Given the description of an element on the screen output the (x, y) to click on. 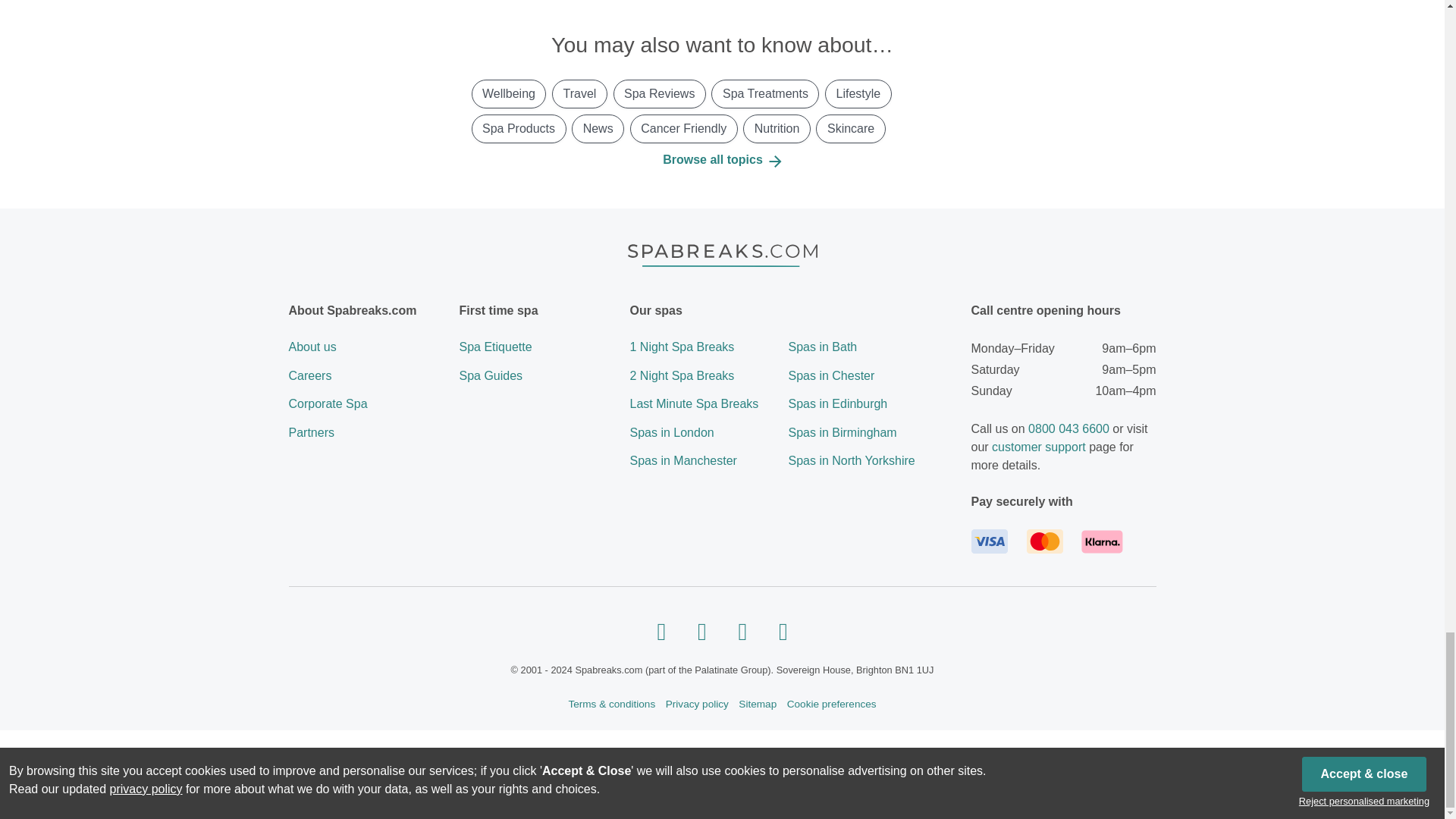
Spabreaks on Facebook (661, 630)
Spabreaks on Twitter (741, 630)
Spabreaks on TikTok (782, 630)
Spabreaks on Instagram (702, 630)
